Given the description of an element on the screen output the (x, y) to click on. 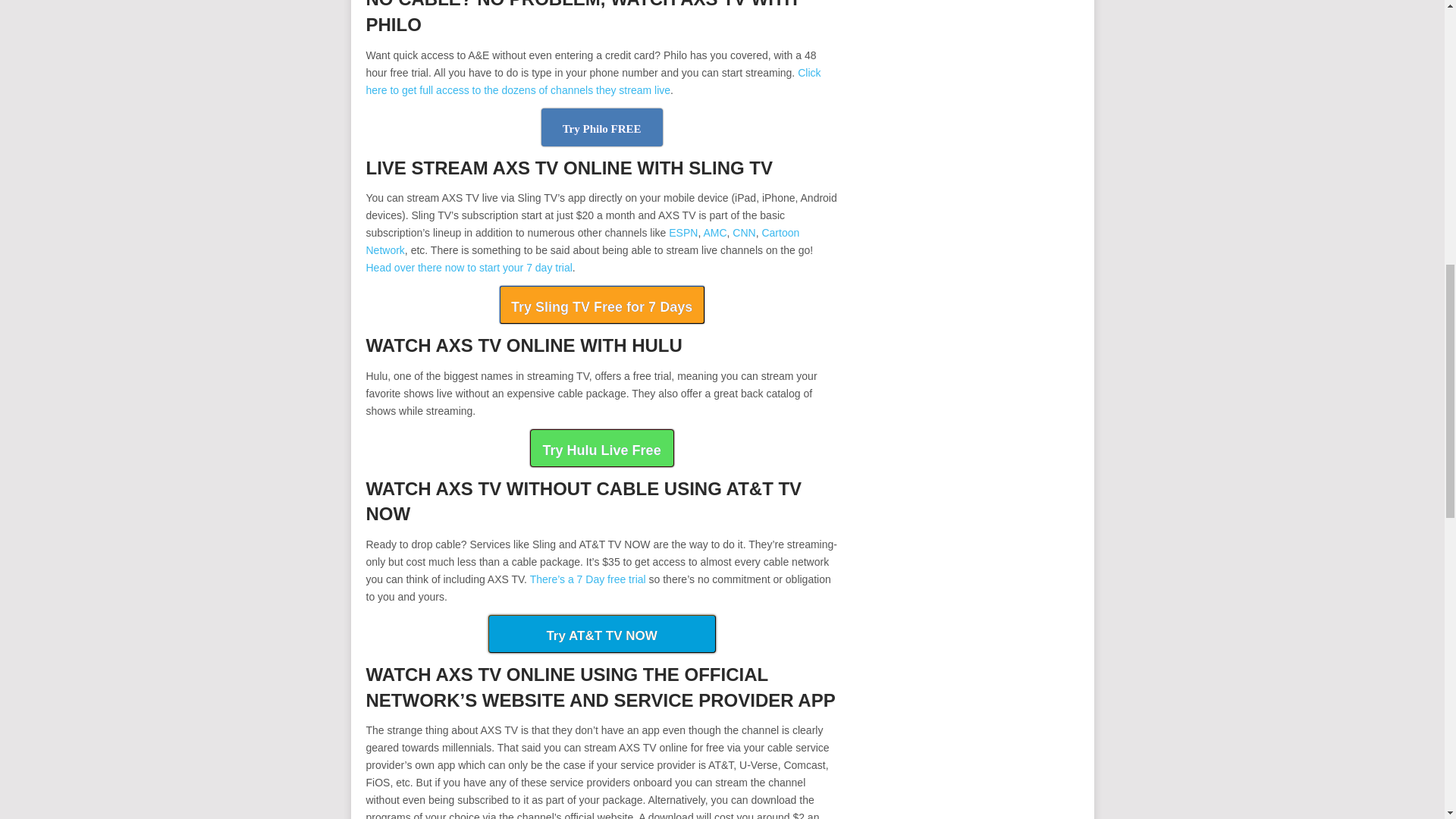
DTVN (601, 633)
